Given the description of an element on the screen output the (x, y) to click on. 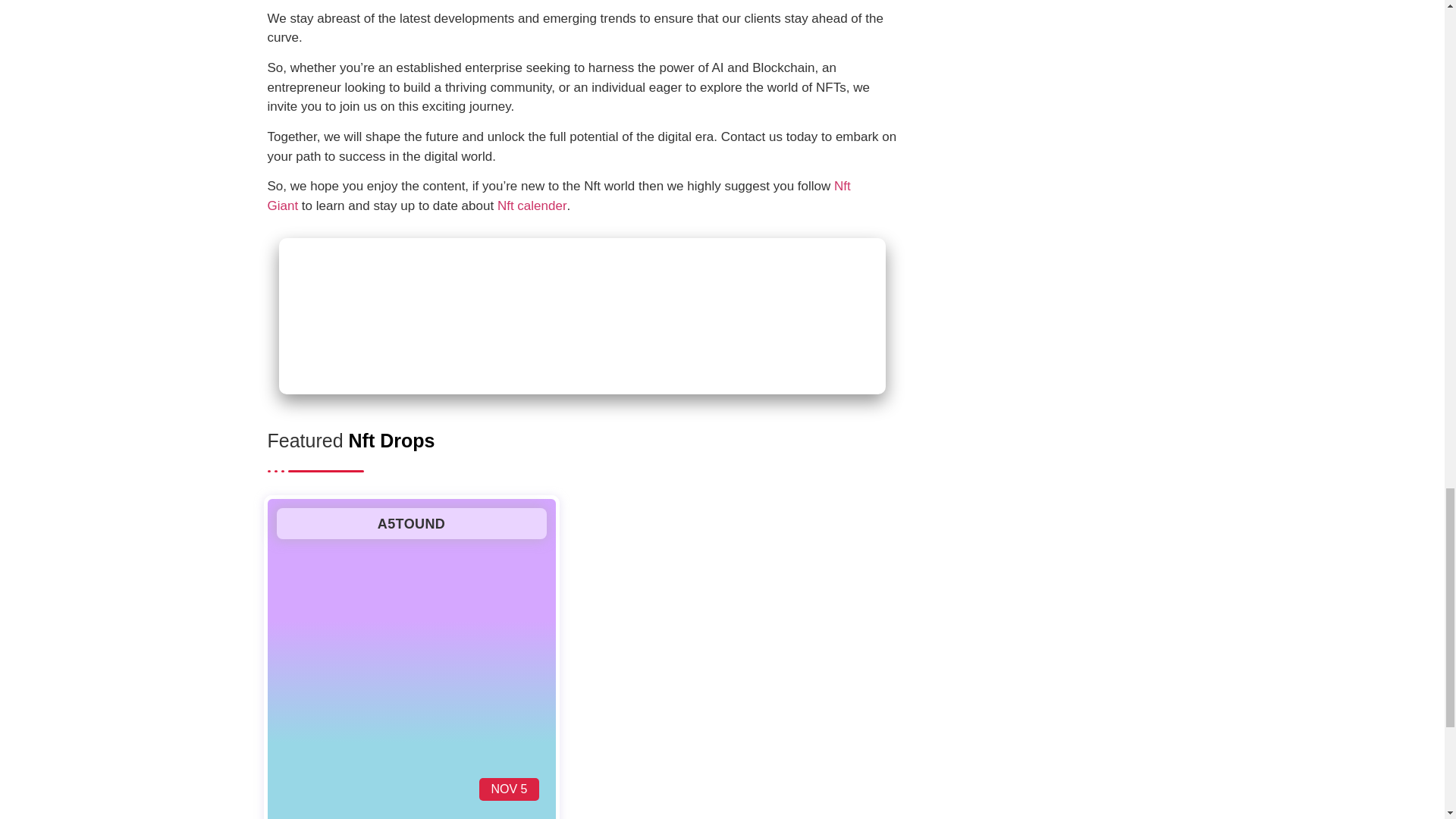
Nft Giant (558, 195)
Nft calender (532, 205)
